Given the description of an element on the screen output the (x, y) to click on. 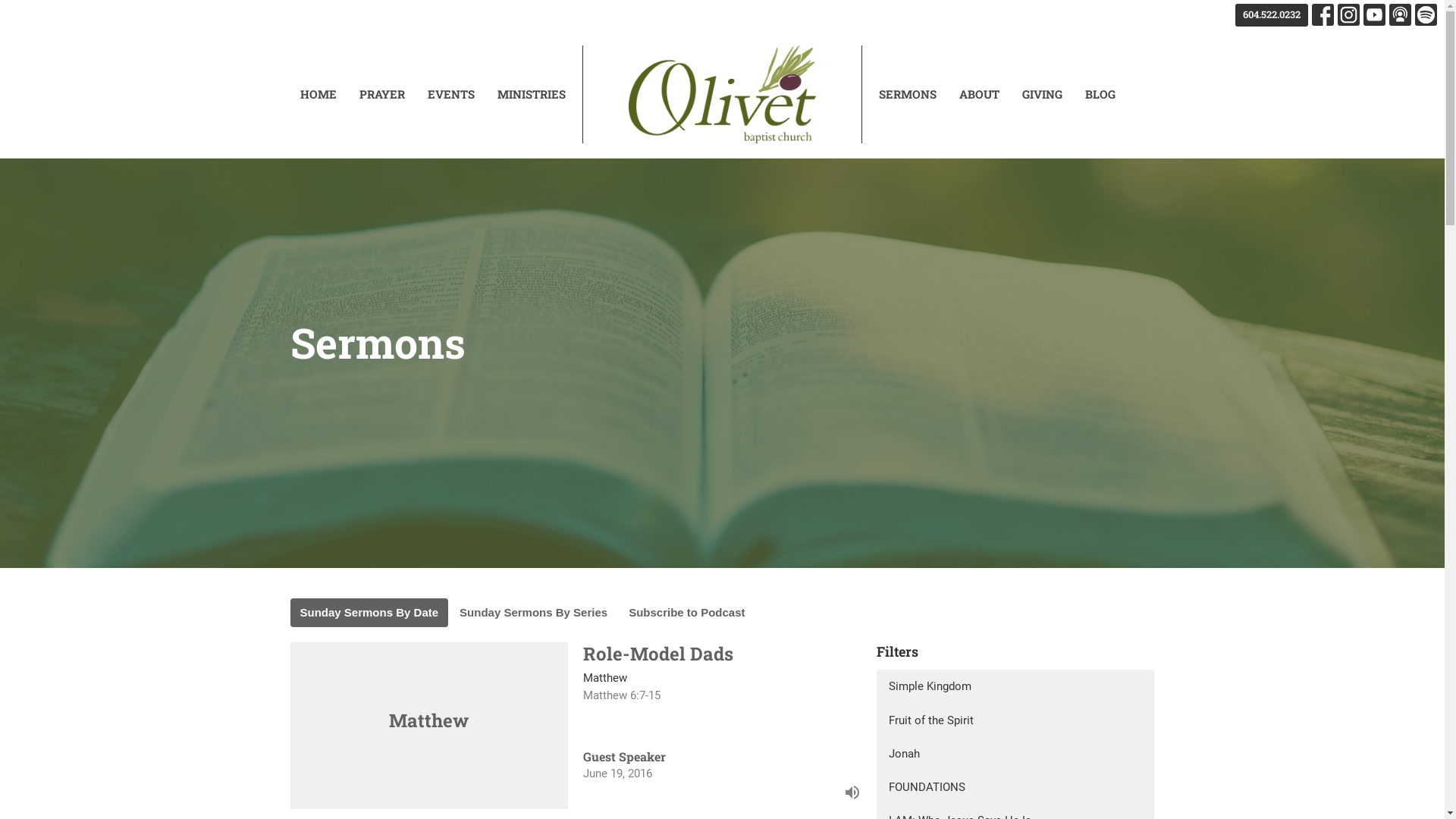
SERMONS Element type: text (907, 93)
FOUNDATIONS Element type: text (1015, 787)
EVENTS Element type: text (450, 93)
Fruit of the Spirit Element type: text (1015, 720)
Simple Kingdom Element type: text (1015, 686)
604.522.0232 Element type: text (1271, 14)
Sunday Sermons By Date Element type: text (368, 612)
BLOG Element type: text (1100, 93)
Subscribe to Podcast Element type: text (686, 612)
PRAYER Element type: text (381, 93)
HOME Element type: text (318, 93)
Jonah Element type: text (1015, 754)
ABOUT Element type: text (979, 93)
GIVING Element type: text (1042, 93)
MINISTRIES Element type: text (531, 93)
Sunday Sermons By Series Element type: text (533, 612)
